Given the description of an element on the screen output the (x, y) to click on. 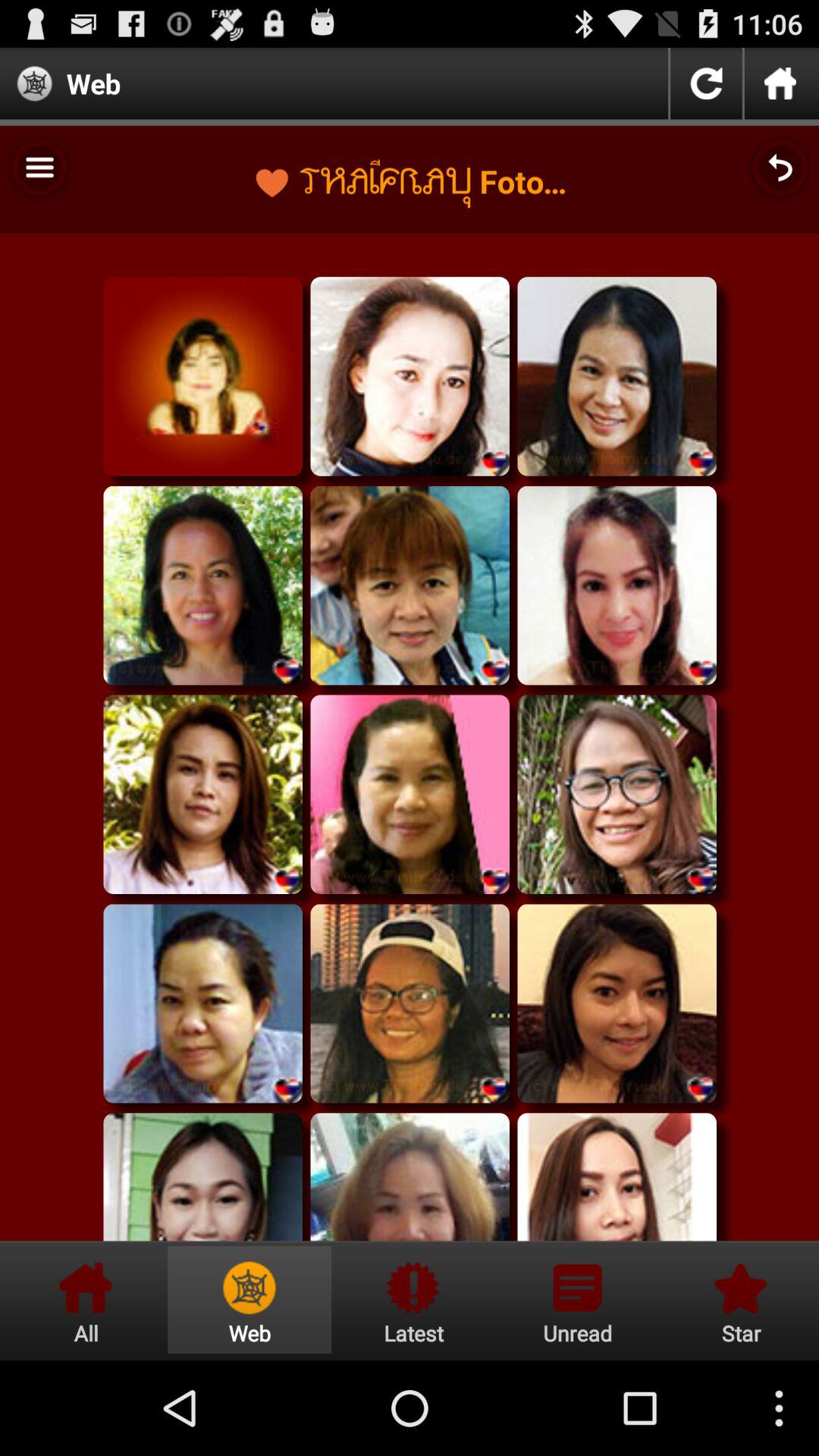
go to home (780, 83)
